Given the description of an element on the screen output the (x, y) to click on. 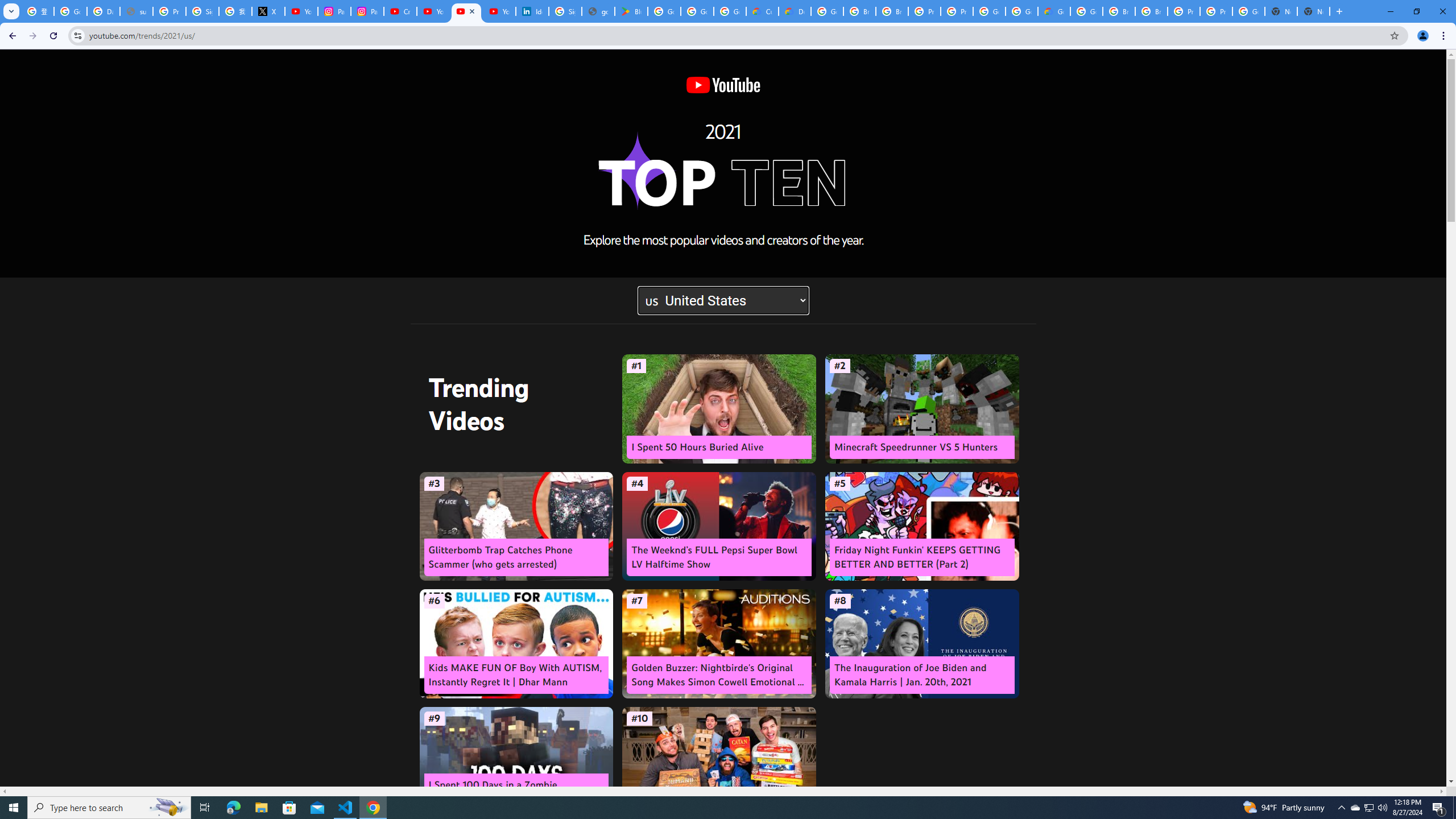
#1 I Spent 50 Hours Buried Alive (718, 408)
YouTube Culture & Trends - YouTube Top 10, 2021 (465, 11)
Browse Chrome as a guest - Computer - Google Chrome Help (859, 11)
